Given the description of an element on the screen output the (x, y) to click on. 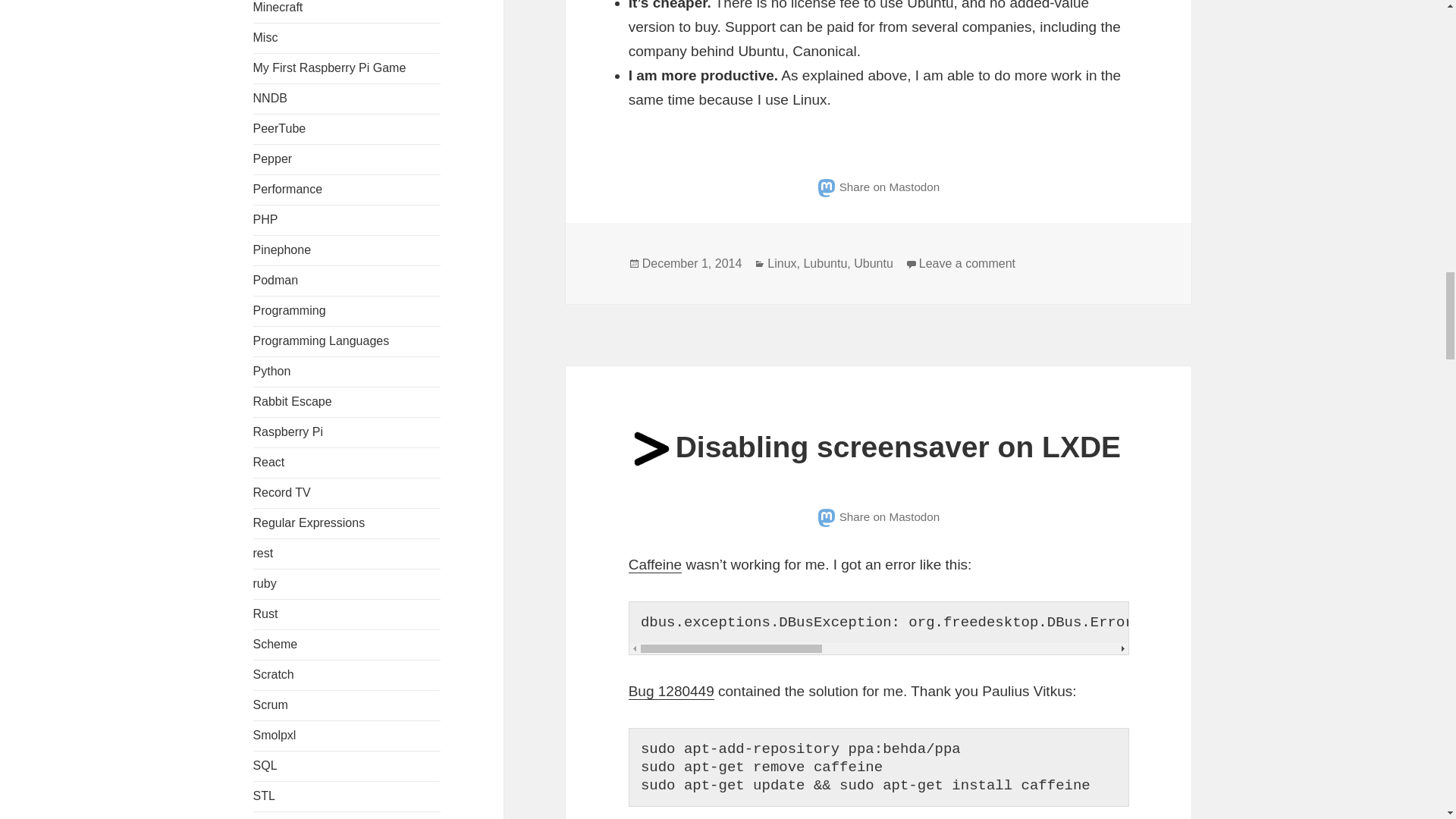
Toot on Mastodon (877, 186)
Toot on Mastodon (877, 516)
